Given the description of an element on the screen output the (x, y) to click on. 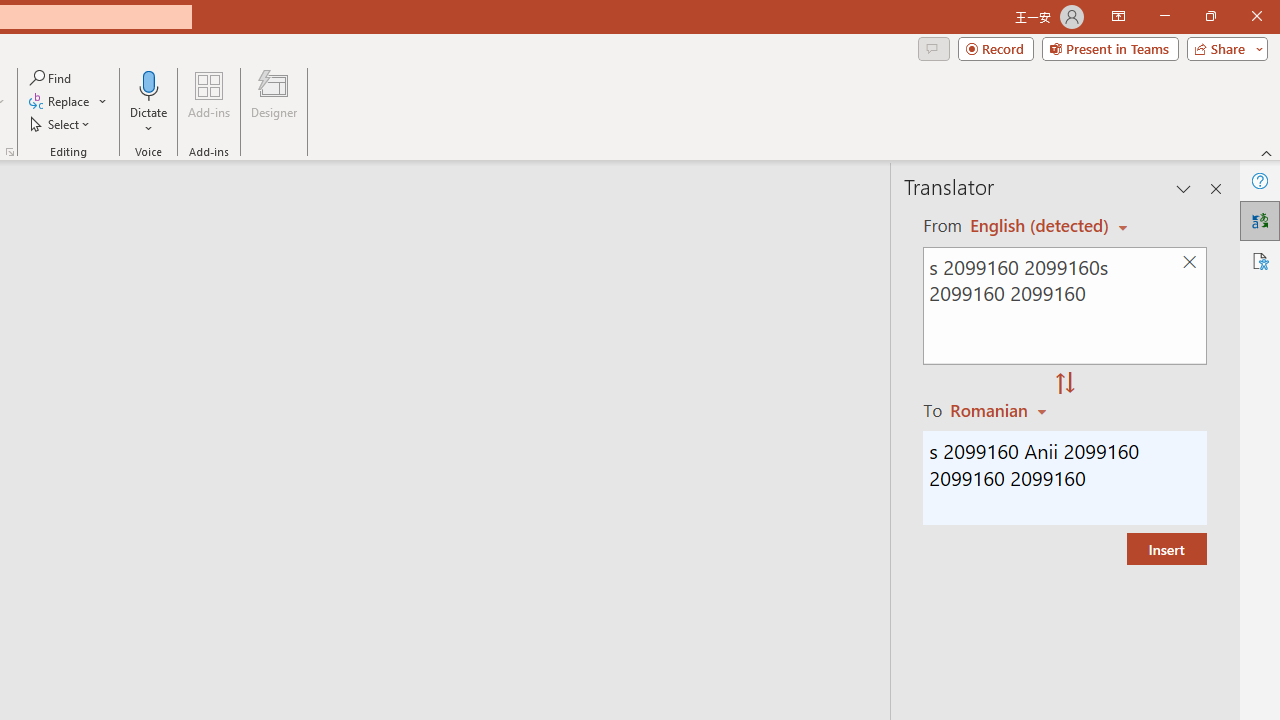
Clear text (1189, 262)
Romanian (1001, 409)
